Given the description of an element on the screen output the (x, y) to click on. 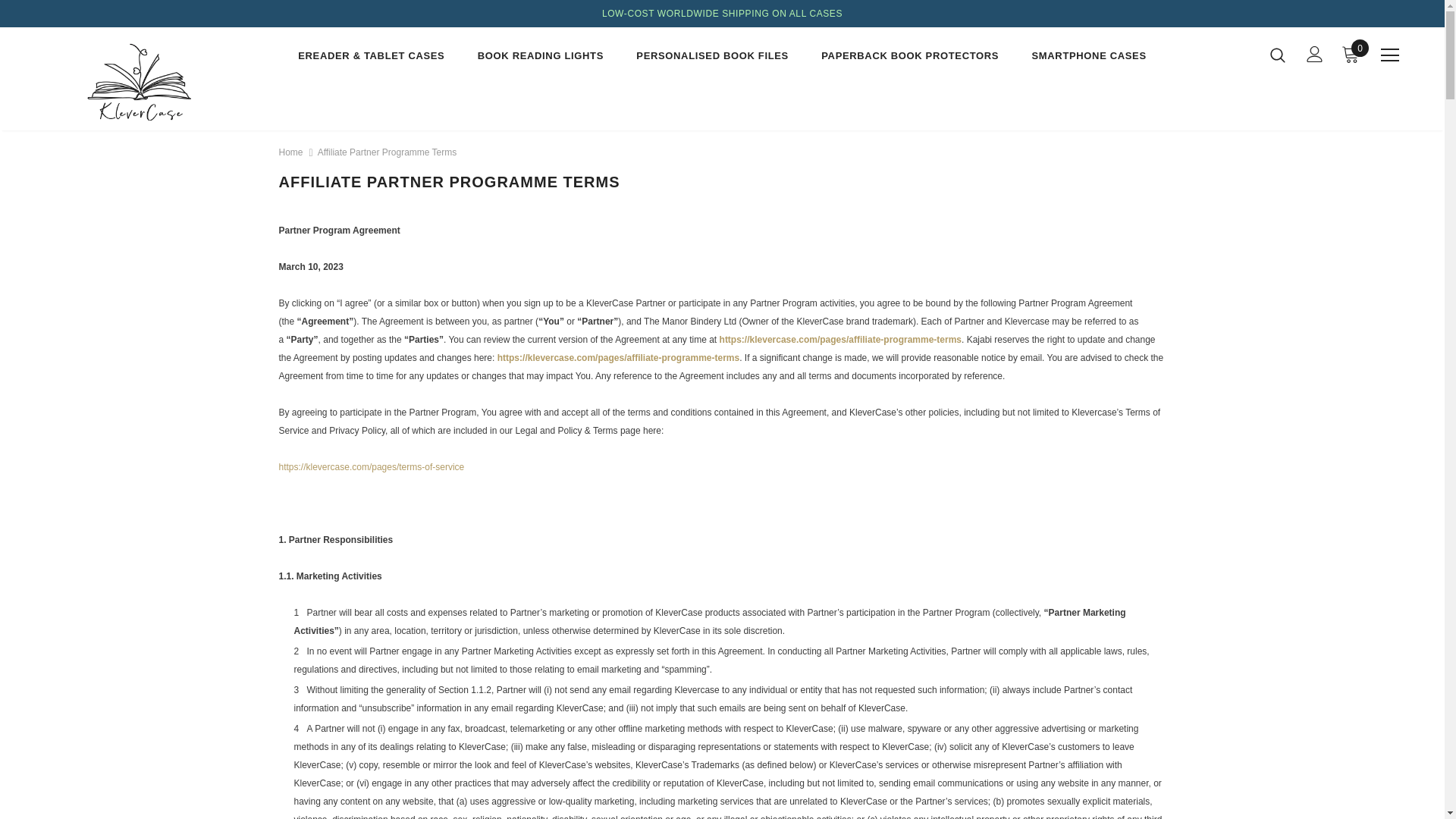
0 (1349, 54)
PERSONALISED BOOK FILES (712, 58)
BOOK READING LIGHTS (540, 58)
Cart Icon (1349, 54)
PAPERBACK BOOK PROTECTORS (909, 58)
Menu Mobile Icon (1389, 54)
SMARTPHONE CASES (1087, 58)
Logo (134, 82)
Home (290, 152)
Search Icon (1277, 54)
